Given the description of an element on the screen output the (x, y) to click on. 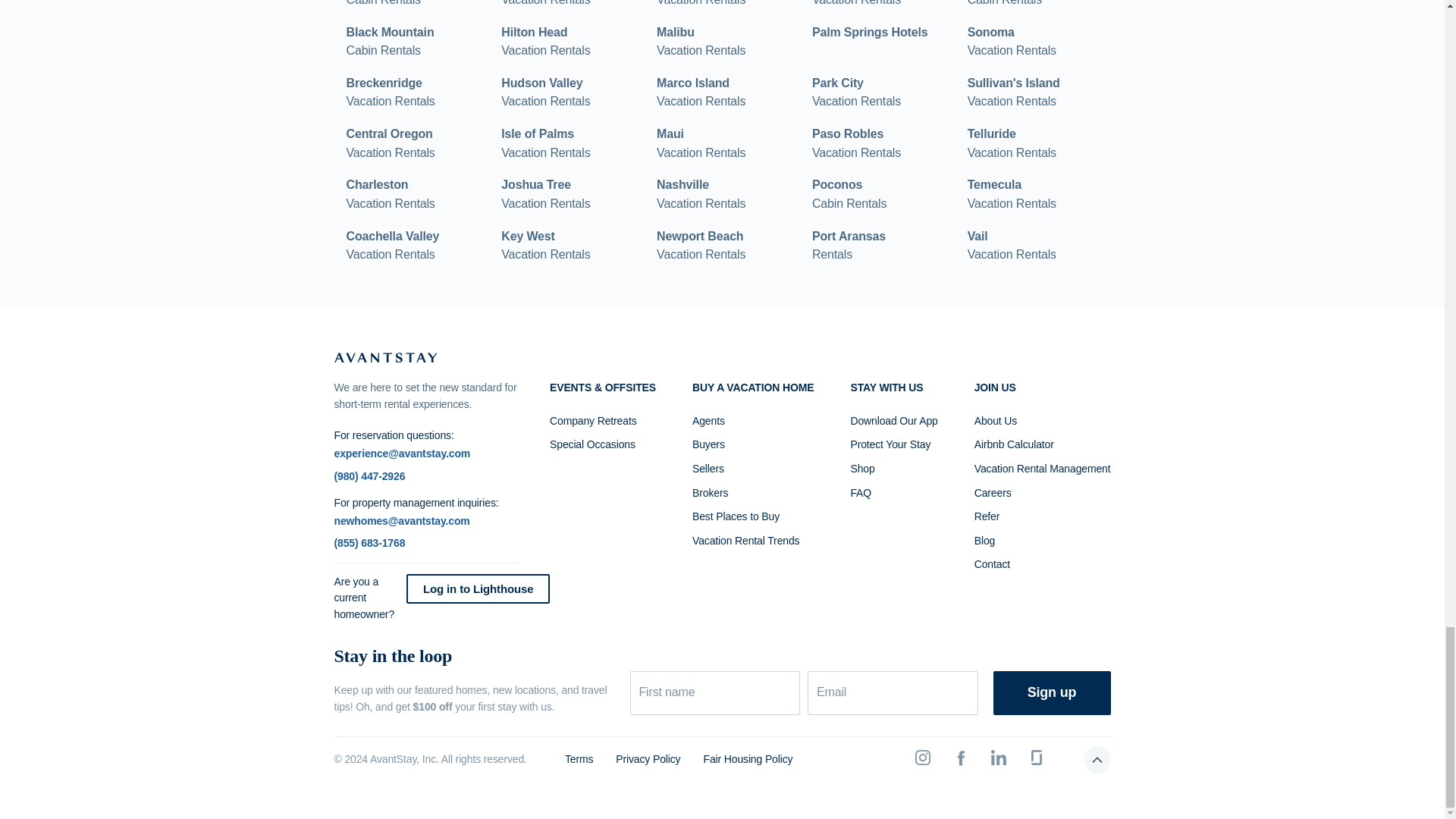
Instagram (700, 4)
AvantStay Logo (544, 143)
